Given the description of an element on the screen output the (x, y) to click on. 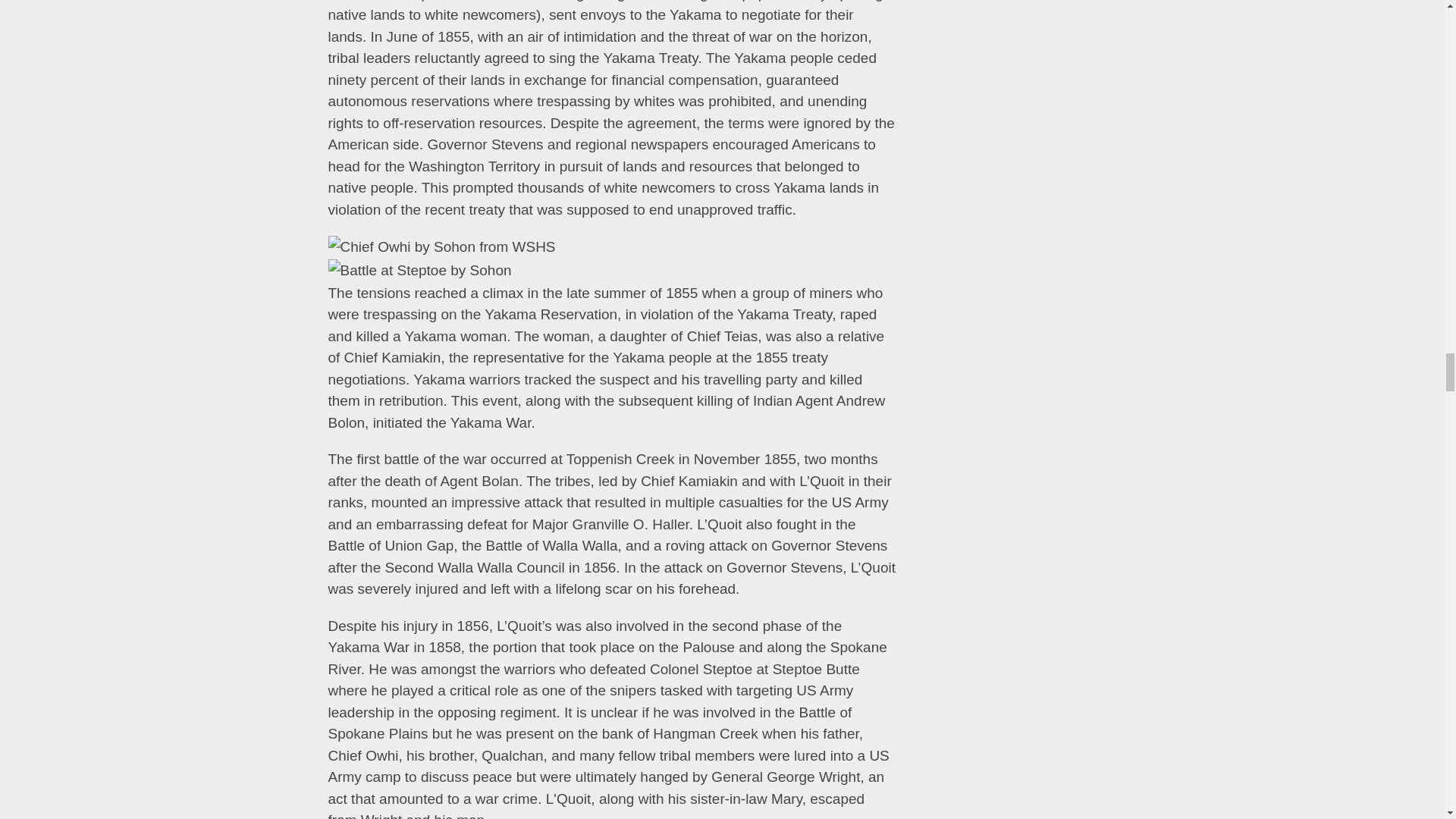
Chief Owhi by Sohon from WSHS (440, 247)
Battle at Steptoe by Sohon (419, 270)
